Given the description of an element on the screen output the (x, y) to click on. 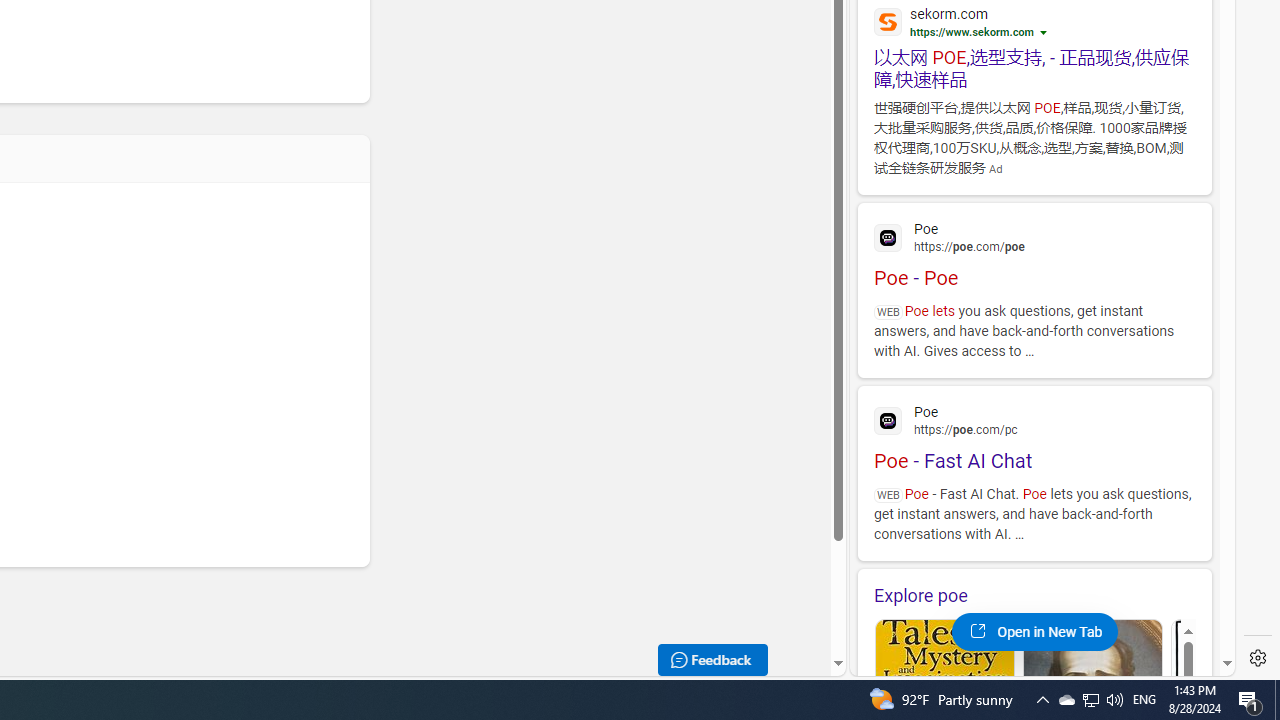
Learn how your ads are chosen (1045, 34)
Global web icon (888, 421)
SERP,5405 (1034, 68)
Explore poe (1034, 595)
Poe - Fast AI Chat (1034, 435)
Poe (1034, 419)
Poe - Poe (1034, 252)
https://www.sekorm.com (972, 31)
Settings (1258, 658)
